Given the description of an element on the screen output the (x, y) to click on. 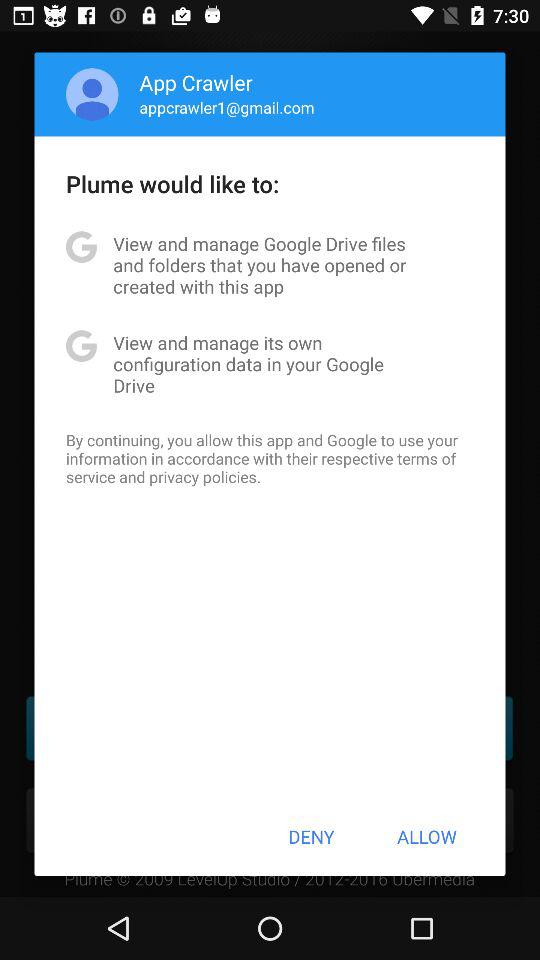
click icon above the appcrawler1@gmail.com (195, 82)
